Given the description of an element on the screen output the (x, y) to click on. 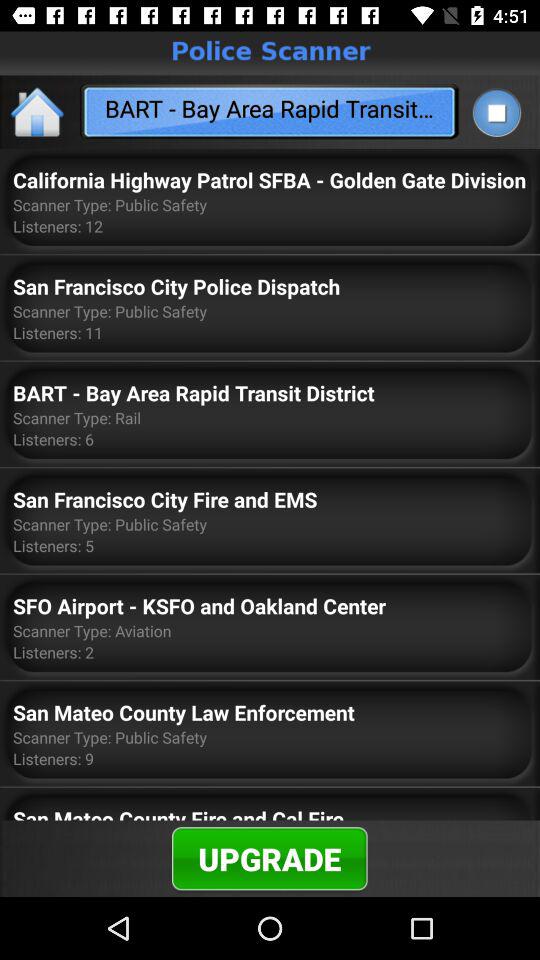
scroll to sfo airport ksfo icon (199, 605)
